Given the description of an element on the screen output the (x, y) to click on. 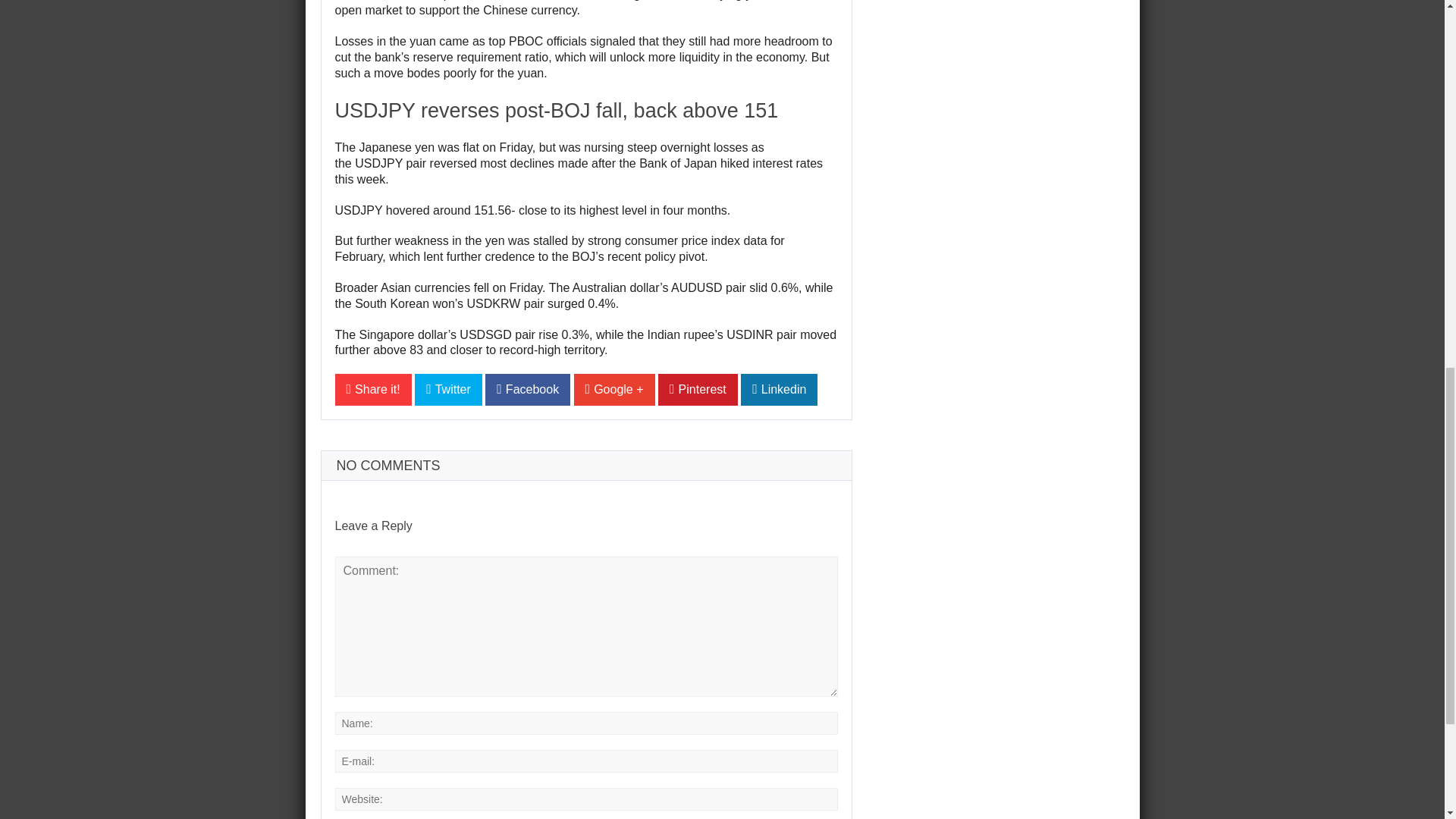
Share it! (373, 389)
Linkedin (778, 389)
Pinterest (698, 389)
Facebook (527, 389)
Twitter (447, 389)
